Given the description of an element on the screen output the (x, y) to click on. 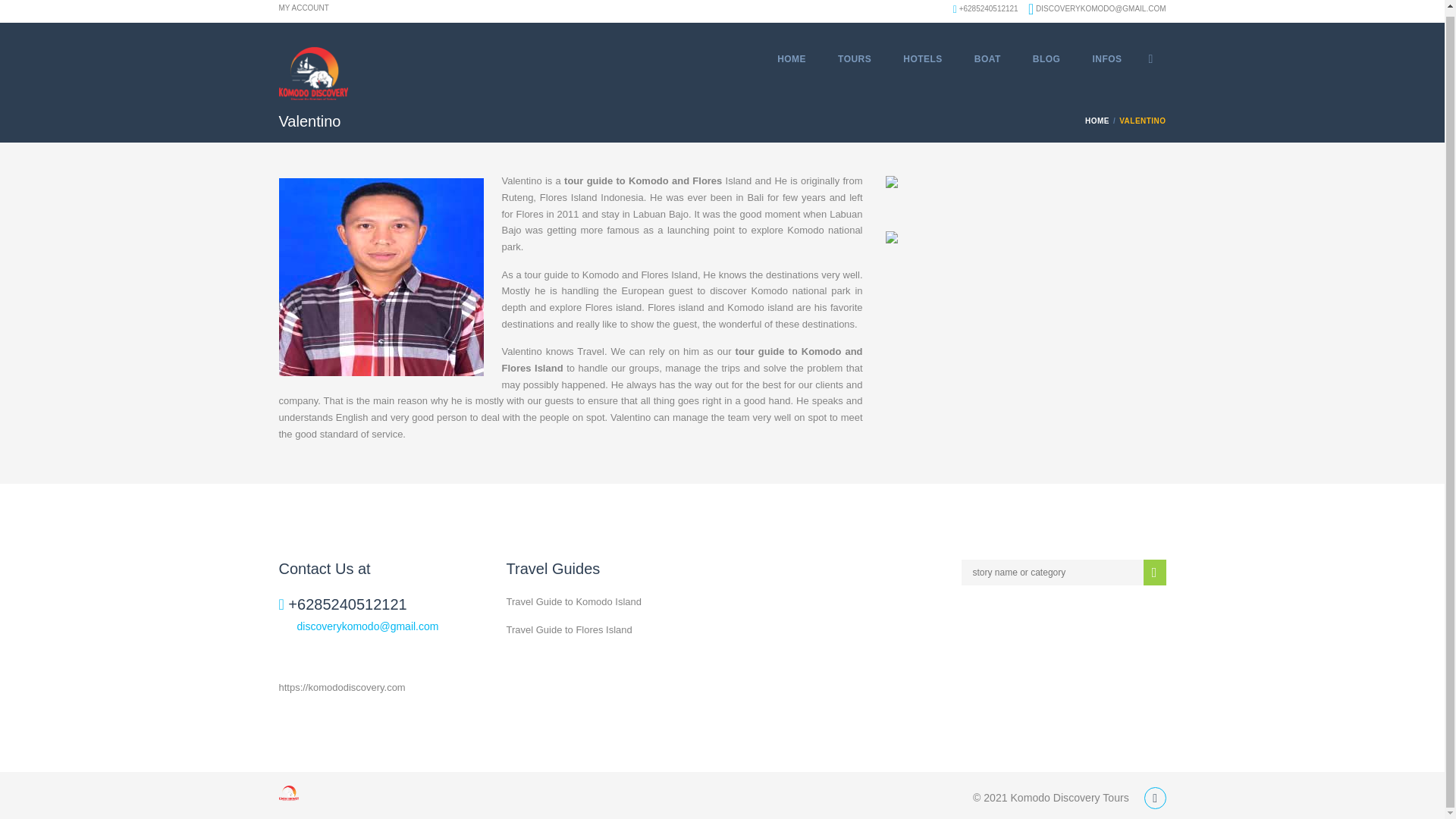
MY ACCOUNT (304, 11)
HOTELS (923, 58)
Travel Guide to Flores Island (568, 629)
Travel Guide to Komodo Island (574, 601)
Home (1098, 121)
Komodo national park (682, 238)
facebook (1150, 58)
HOME (1098, 121)
Flores Island Indonesia (591, 197)
